Given the description of an element on the screen output the (x, y) to click on. 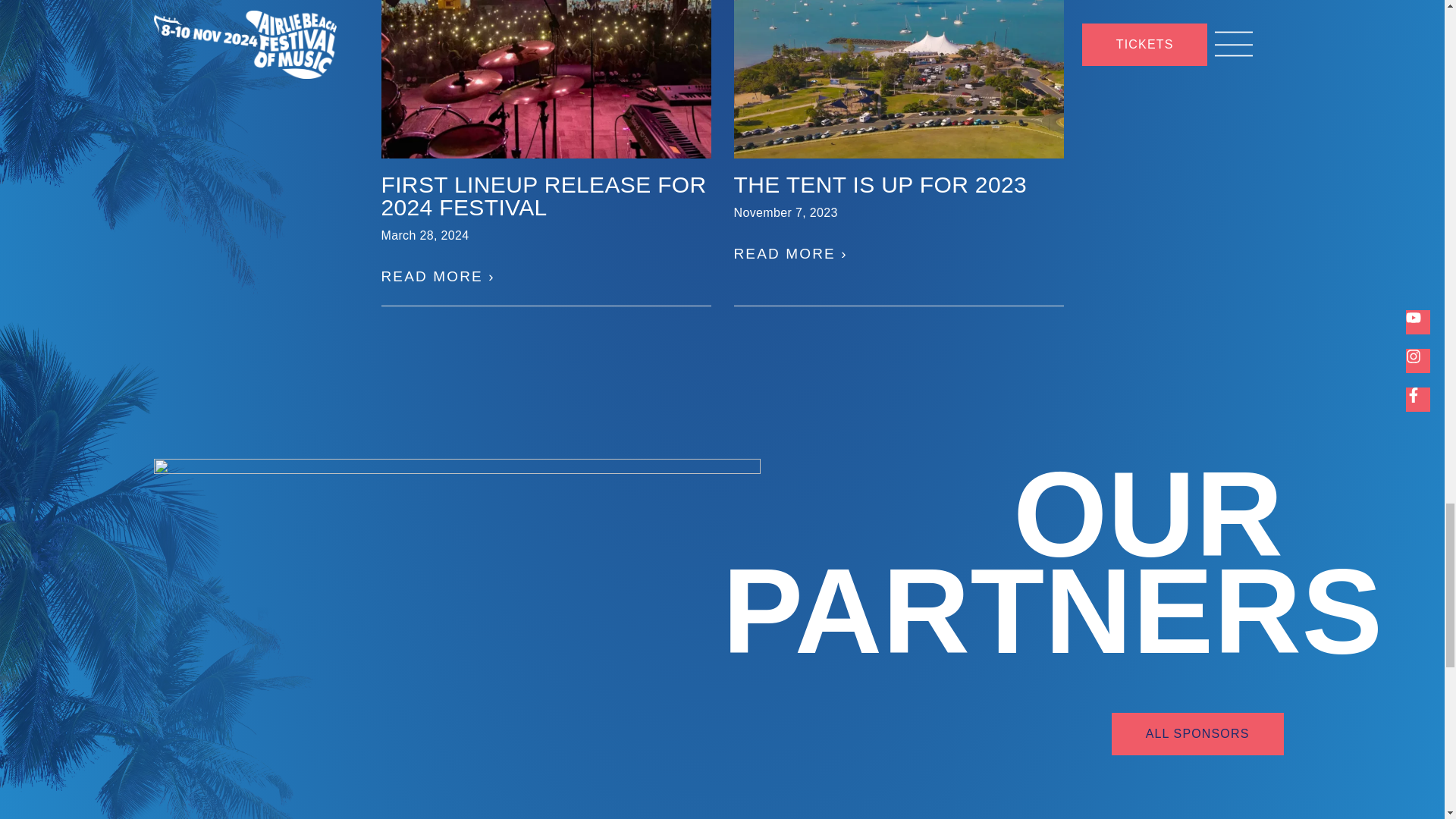
THE TENT IS UP FOR 2023 (880, 184)
ALL SPONSORS (1198, 733)
FIRST LINEUP RELEASE FOR 2024 FESTIVAL (543, 195)
